Given the description of an element on the screen output the (x, y) to click on. 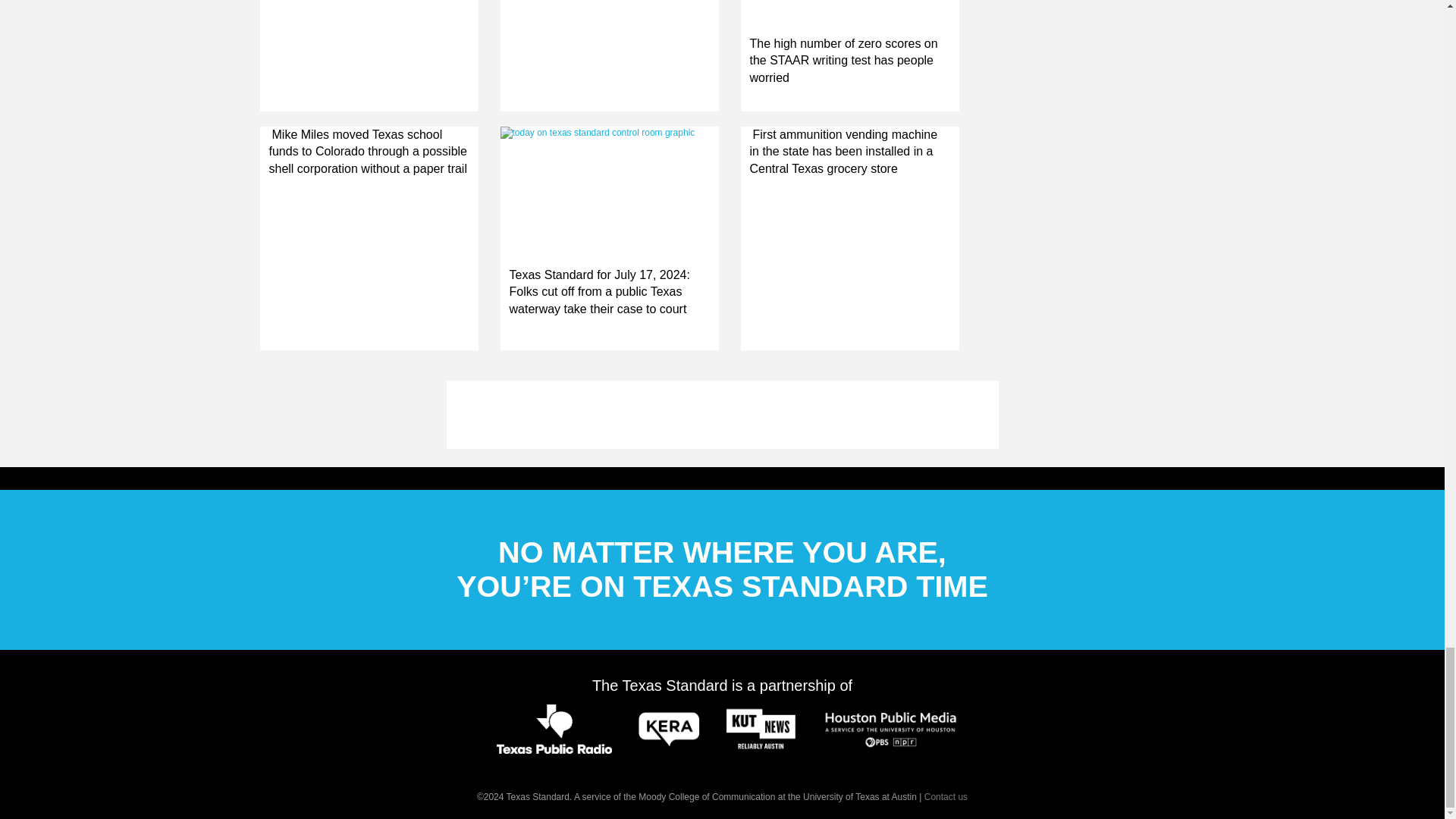
3rd party ad content (721, 414)
